Given the description of an element on the screen output the (x, y) to click on. 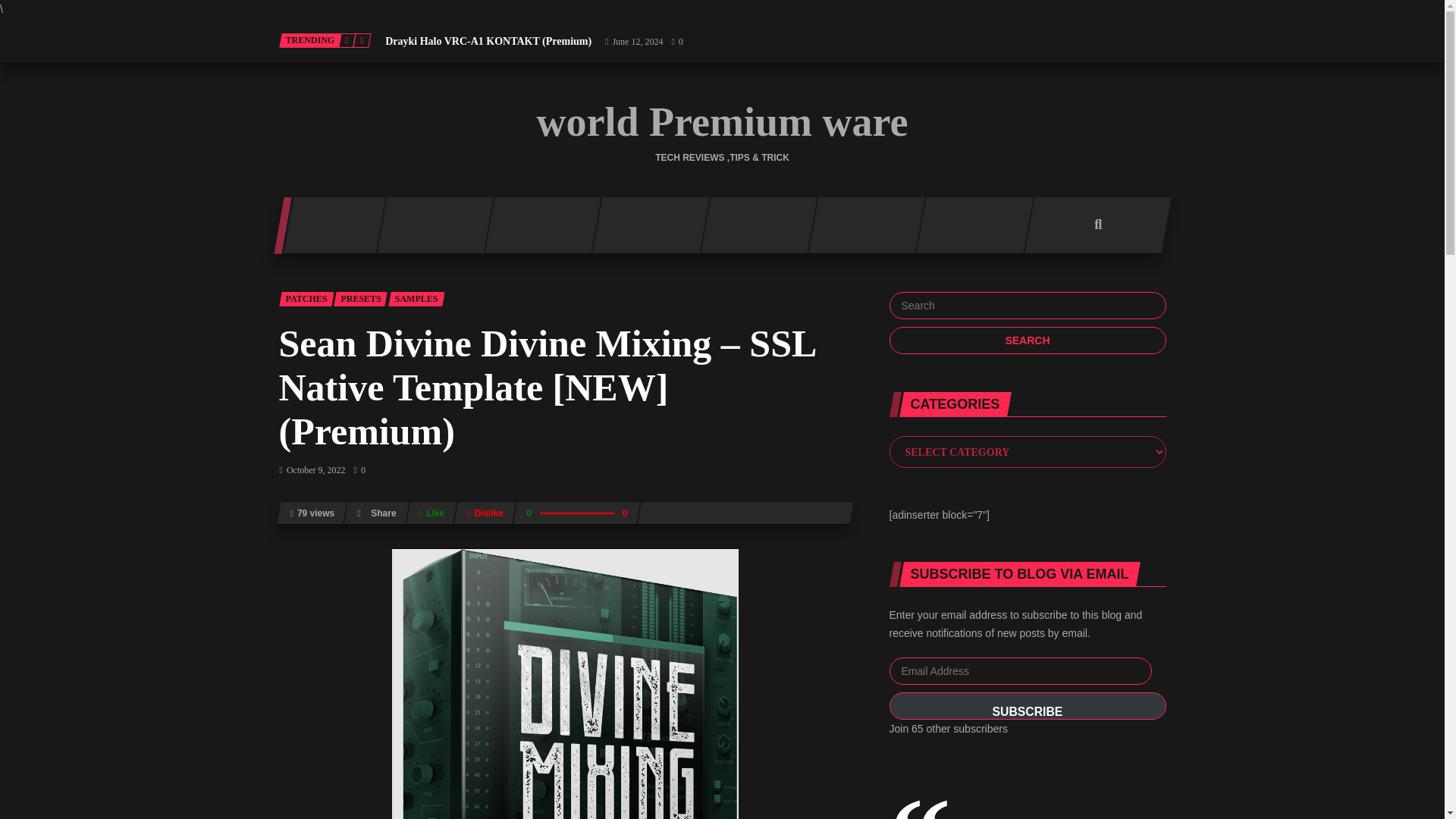
Search (1027, 339)
0 (359, 470)
June 12, 2024 (633, 41)
PATCHES (306, 298)
world Premium ware (722, 121)
SAMPLES (416, 298)
Samples (416, 298)
Presets (360, 298)
TRENDING (310, 40)
October 9, 2022 (312, 470)
PRESETS (360, 298)
Patches (306, 298)
0 (675, 41)
